Given the description of an element on the screen output the (x, y) to click on. 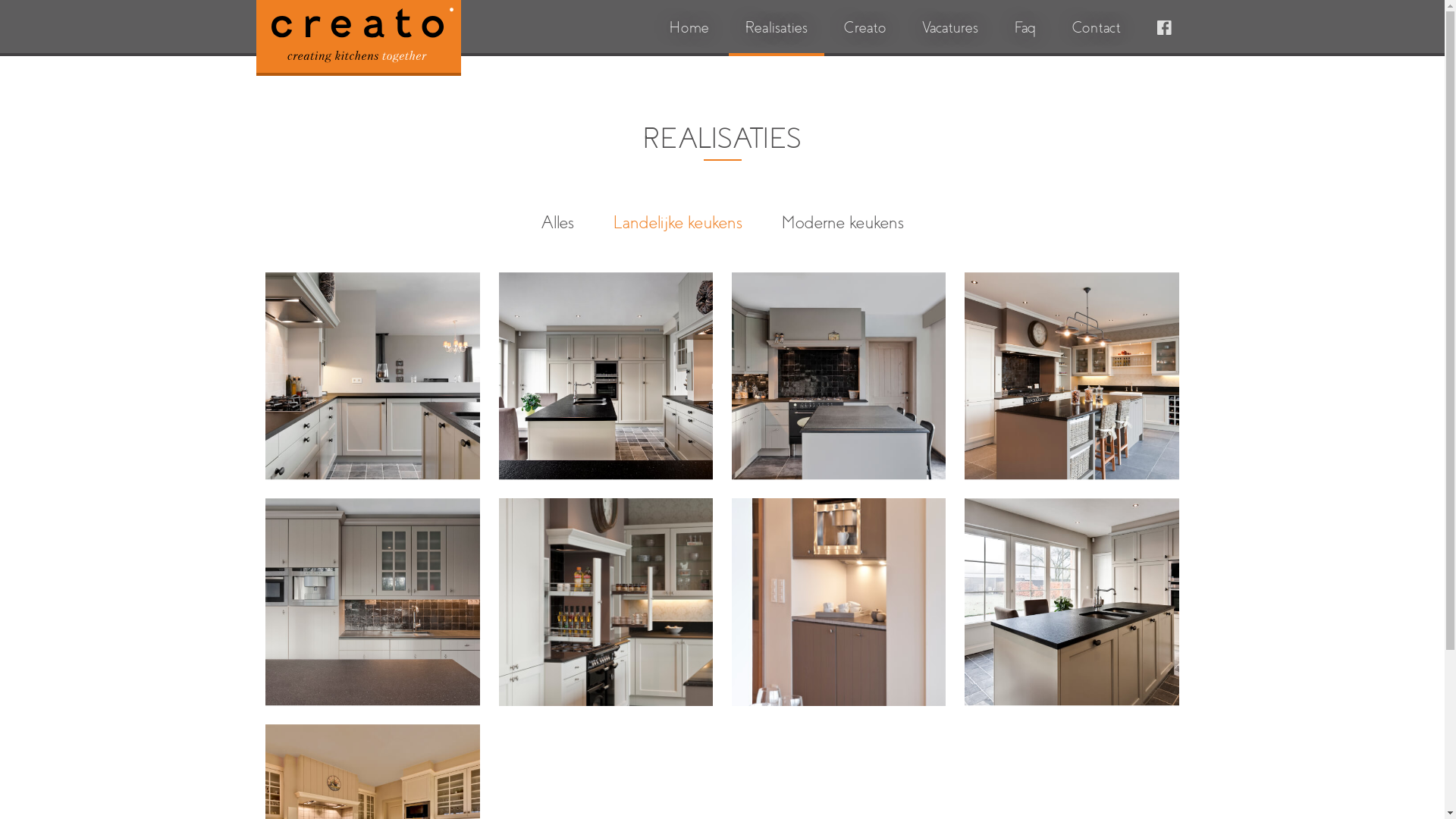
Moderne keukens Element type: text (841, 222)
Landelijke keuken van Creato Keukens Element type: hover (1071, 375)
Landelijke keuken van Creato Keukens Element type: hover (838, 601)
Landelijke keukens Element type: text (676, 222)
Landelijke keuken van Creato Keukens Element type: hover (372, 601)
Realisaties Element type: text (776, 28)
Landelijke keuken van Creato Keukens Element type: hover (372, 375)
Landelijke keuken van Creato Keukens Element type: hover (1071, 601)
Alles Element type: text (557, 222)
Creato Element type: text (864, 28)
Creato keukens Element type: hover (358, 37)
Home Element type: text (688, 28)
Landelijke keuken van Creato Keukens Element type: hover (605, 375)
Landelijke keuken van Creato Keukens Element type: hover (838, 375)
Contact Element type: text (1095, 28)
Landelijke keuken van Creato Keukens Element type: hover (605, 601)
Vacatures Element type: text (949, 28)
Faq Element type: text (1024, 28)
Bezoek ons op facebook Element type: hover (1163, 28)
